Given the description of an element on the screen output the (x, y) to click on. 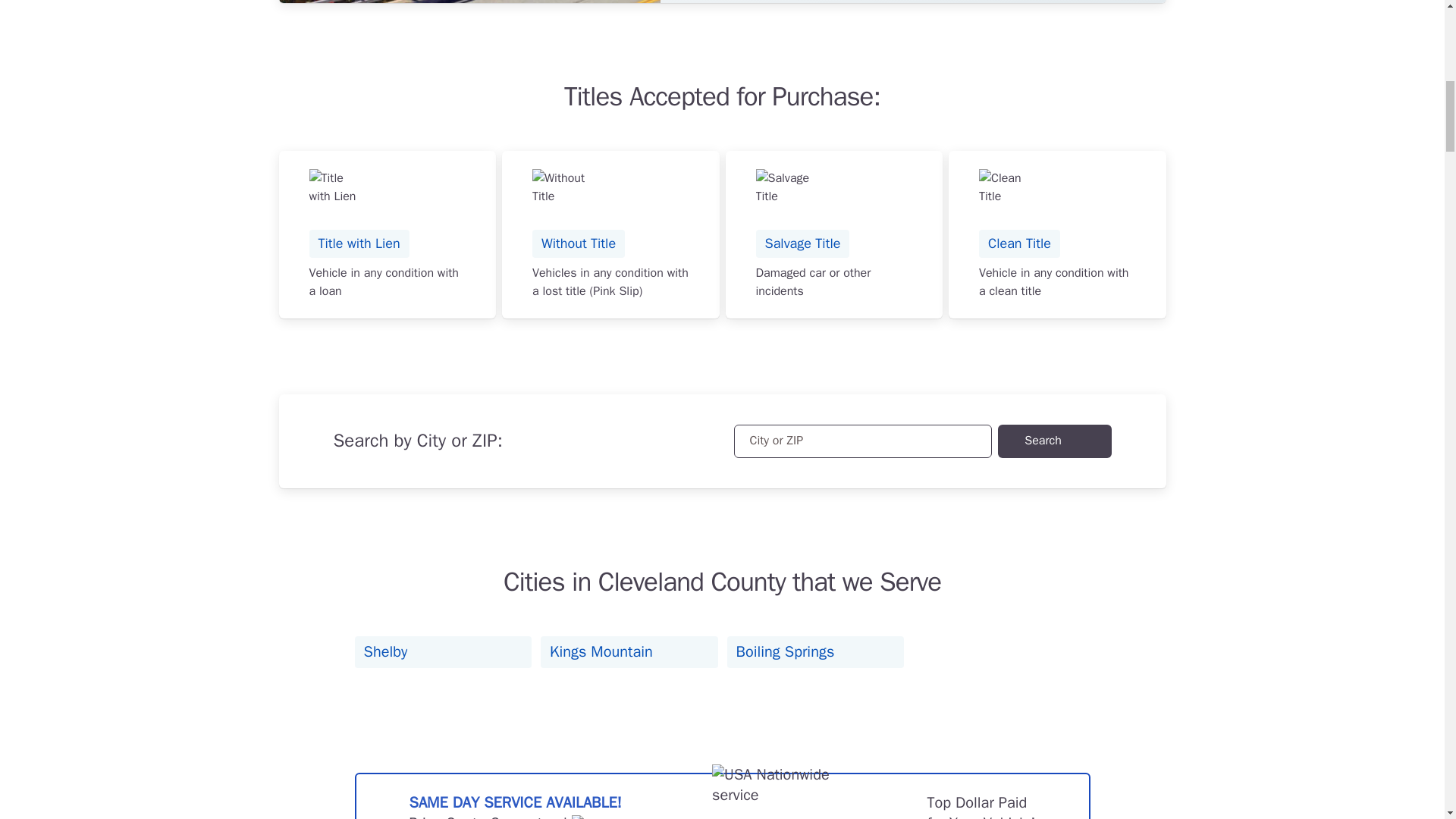
Search (1054, 441)
Kings Mountain (628, 652)
Shelby (443, 652)
Boiling Springs (815, 652)
